Given the description of an element on the screen output the (x, y) to click on. 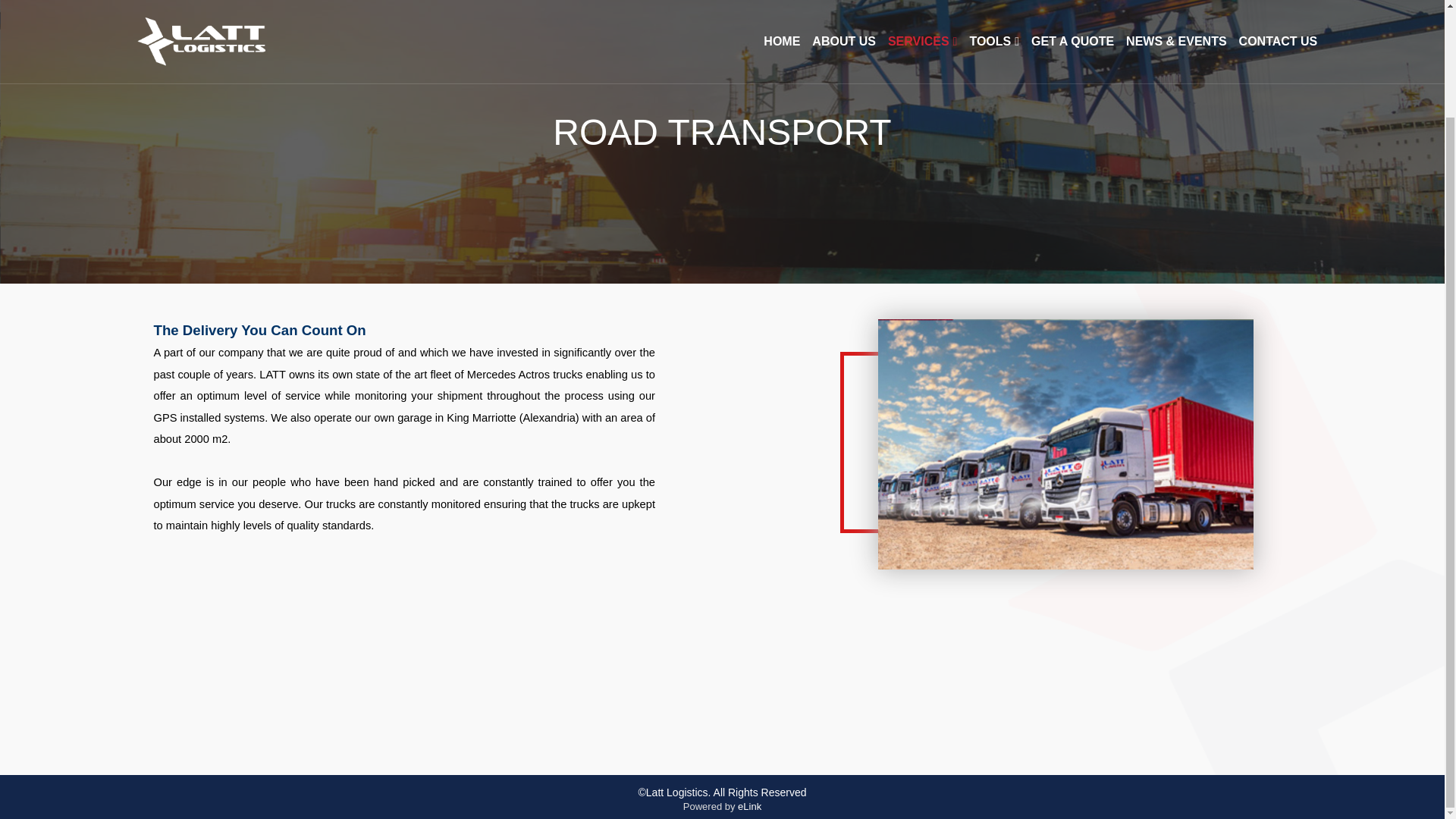
eLink (749, 806)
